Given the description of an element on the screen output the (x, y) to click on. 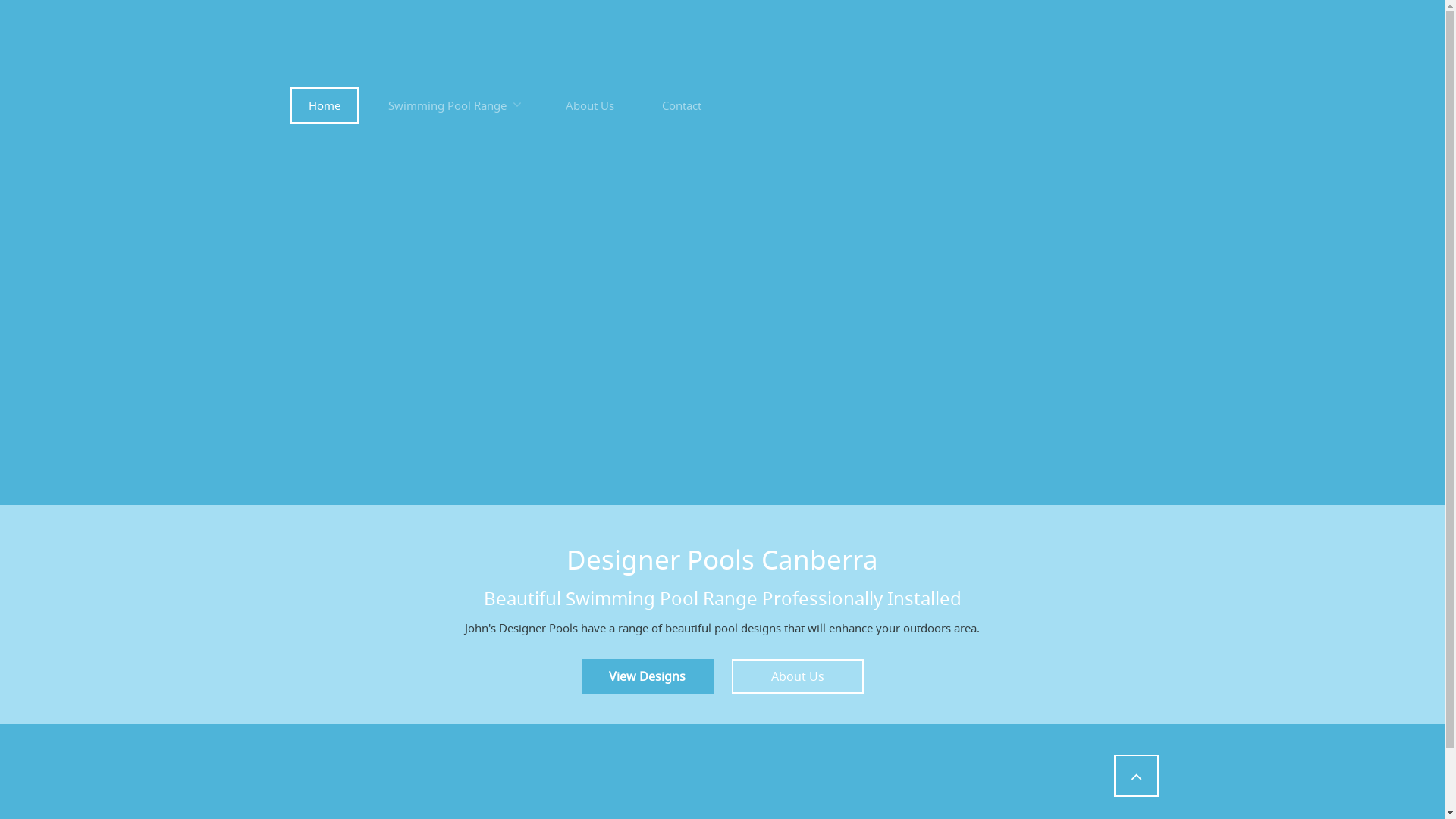
Swimming Pool Range Element type: text (452, 105)
Contact Element type: text (680, 105)
About Us Element type: text (589, 105)
View Designs Element type: text (646, 675)
About Us Element type: text (796, 675)
Home Element type: text (323, 105)
